Given the description of an element on the screen output the (x, y) to click on. 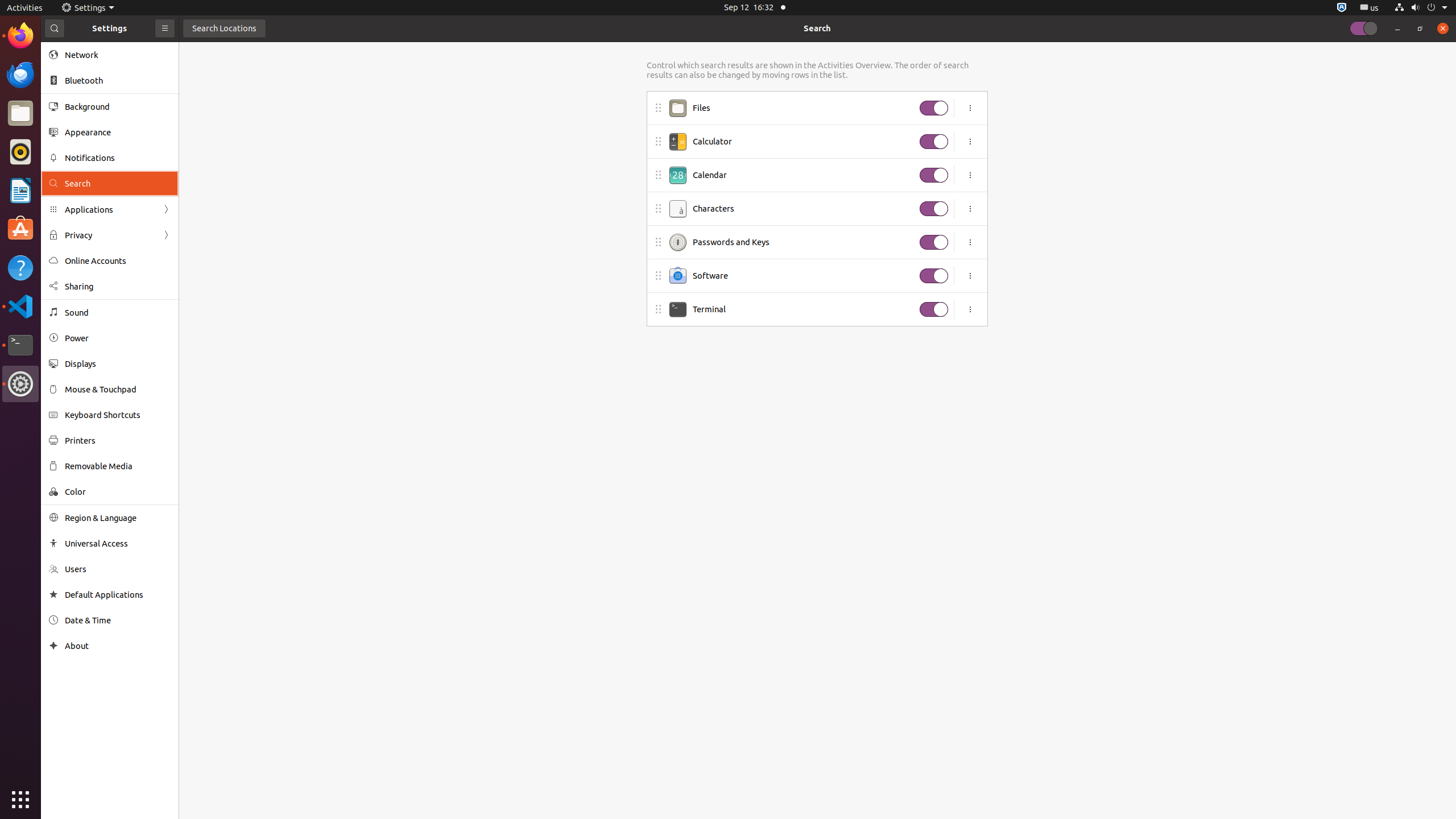
Power Element type: label (117, 337)
Characters Element type: label (802, 208)
Software Element type: label (802, 275)
Removable Media Element type: label (117, 465)
